Given the description of an element on the screen output the (x, y) to click on. 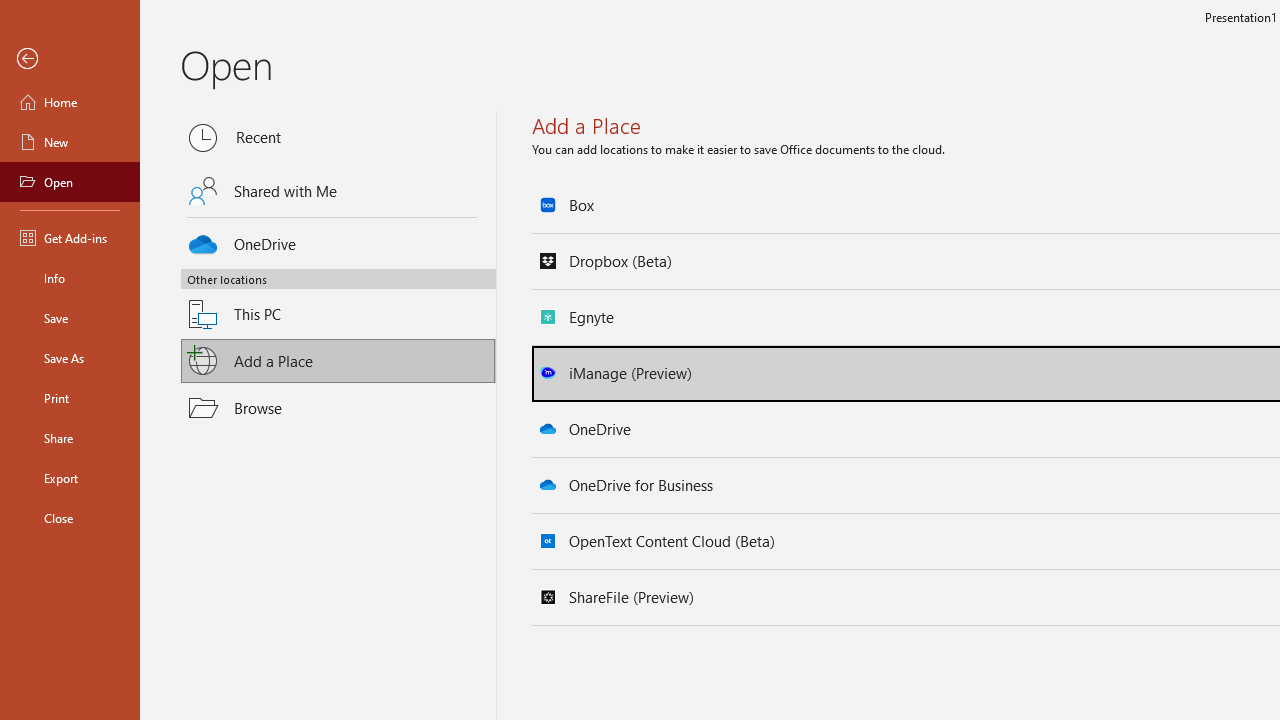
Print (69, 398)
Recent (338, 138)
